Given the description of an element on the screen output the (x, y) to click on. 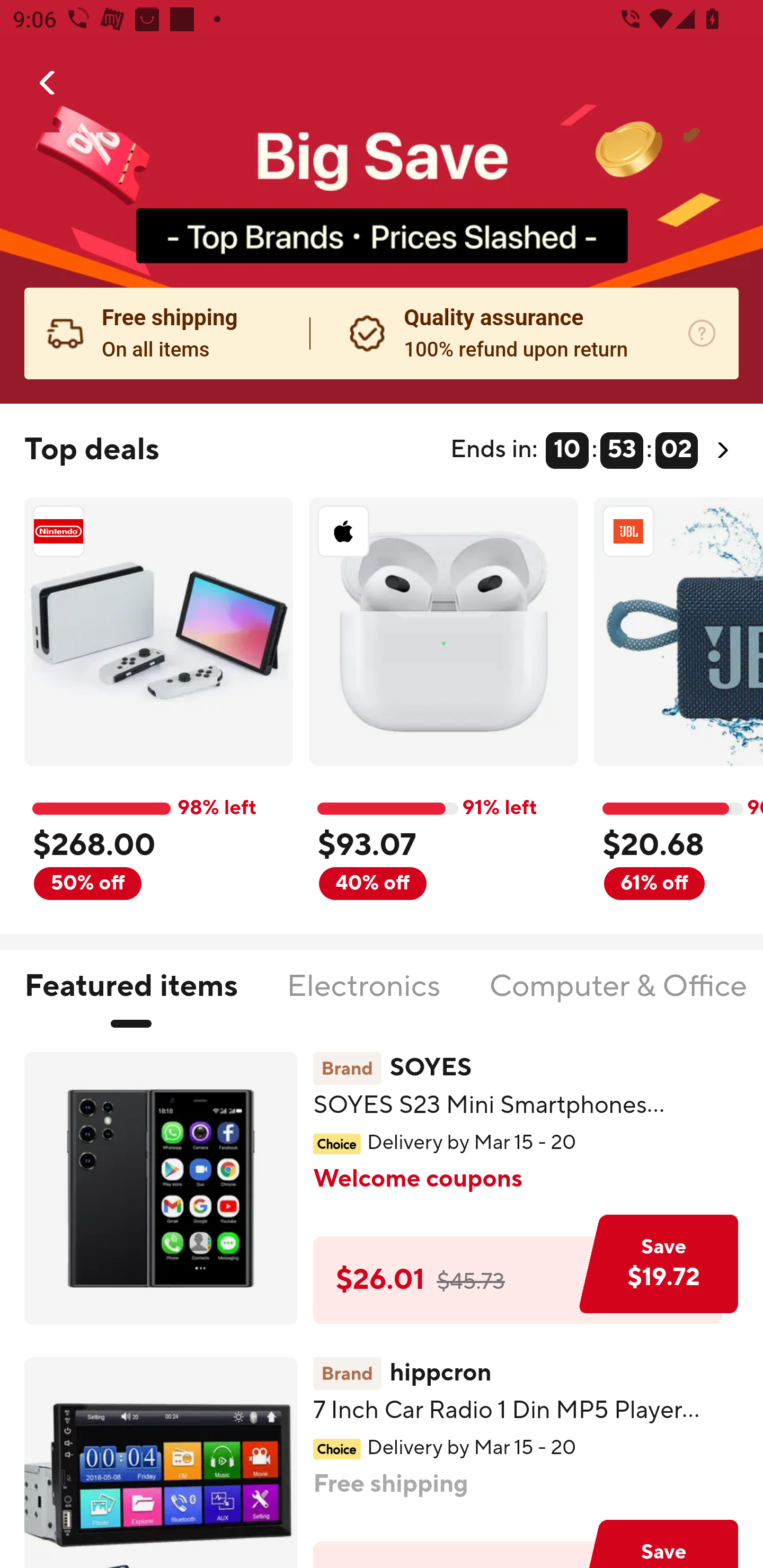
 (48, 82)
Featured items (130, 996)
Electronics (363, 996)
Computer & Office (617, 996)
